Given the description of an element on the screen output the (x, y) to click on. 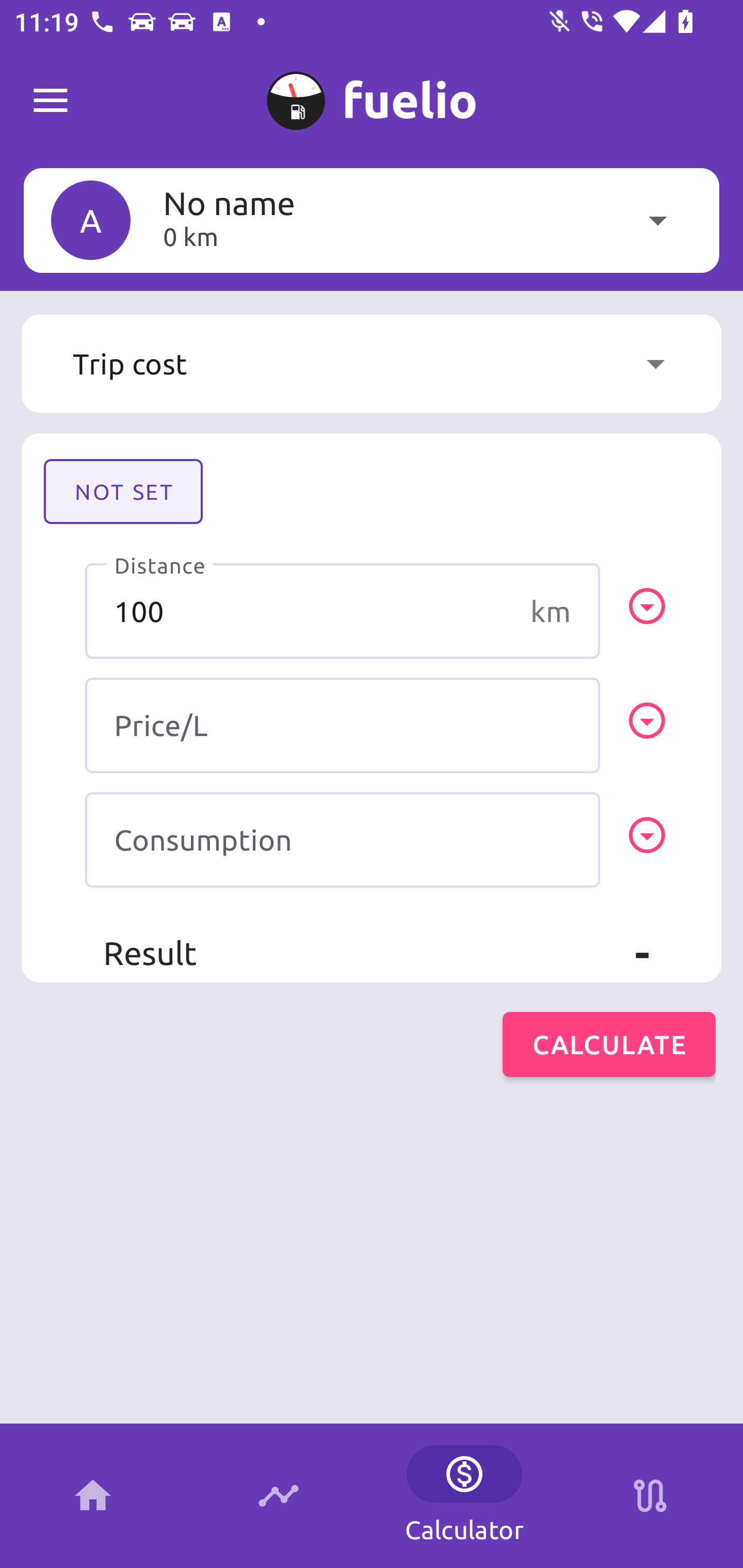
Fuelio (50, 101)
A No name 0 km (371, 219)
Trip cost (371, 363)
Show dropdown menu (655, 363)
NOT SET (122, 491)
100 (342, 610)
Price/L (342, 725)
Consumption (342, 839)
CALCULATE (608, 1044)
Home (92, 1495)
Timeline (278, 1495)
Stations on route (650, 1495)
